Given the description of an element on the screen output the (x, y) to click on. 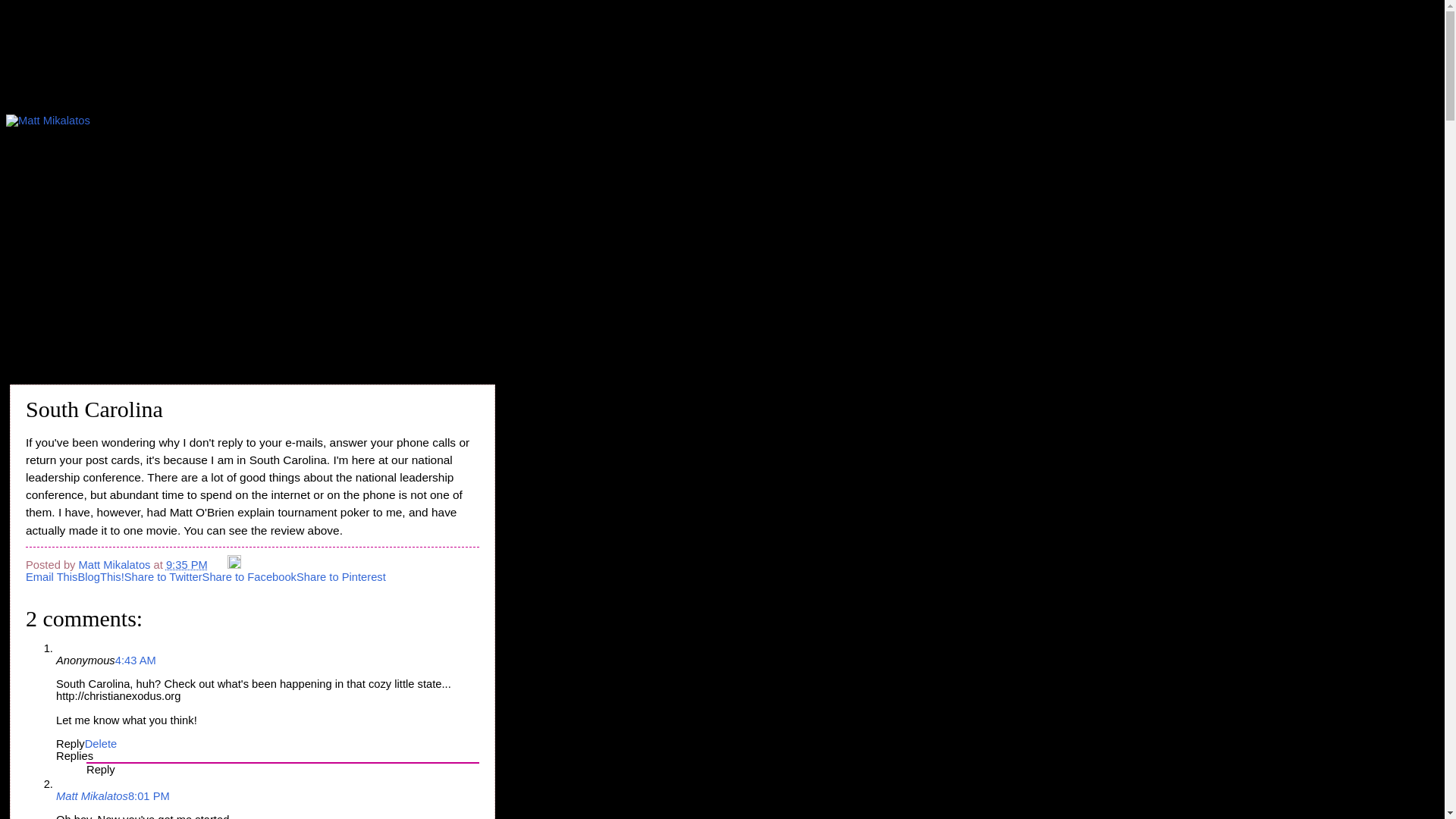
Share to Twitter (162, 576)
Replies (74, 756)
Reply (70, 743)
Delete (100, 743)
Share to Pinterest (341, 576)
Share to Facebook (249, 576)
Email This (51, 576)
8:01 PM (149, 796)
Edit Post (234, 564)
Matt Mikalatos (92, 796)
Share to Facebook (249, 576)
9:35 PM (186, 564)
Matt Mikalatos (116, 564)
Share to Twitter (162, 576)
BlogThis! (100, 576)
